Given the description of an element on the screen output the (x, y) to click on. 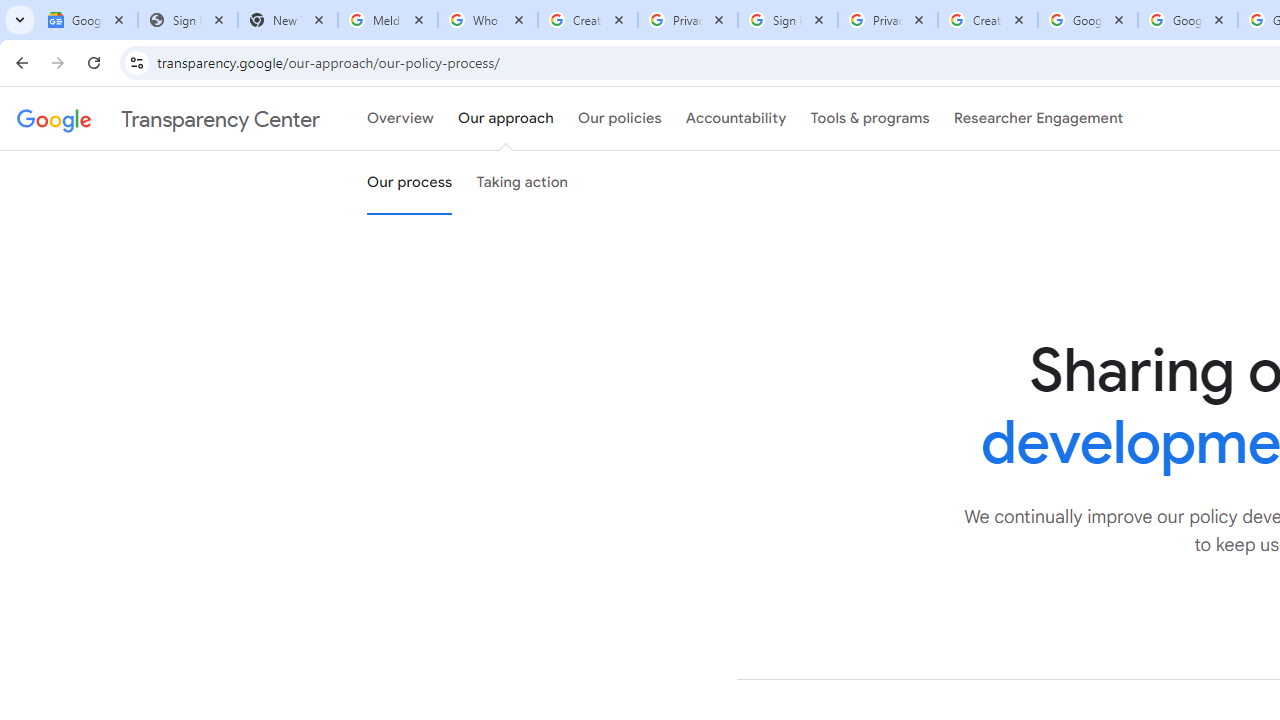
Transparency Center (167, 119)
Taking action (522, 183)
Researcher Engagement (1038, 119)
Sign in - Google Accounts (788, 20)
Google News (87, 20)
